Given the description of an element on the screen output the (x, y) to click on. 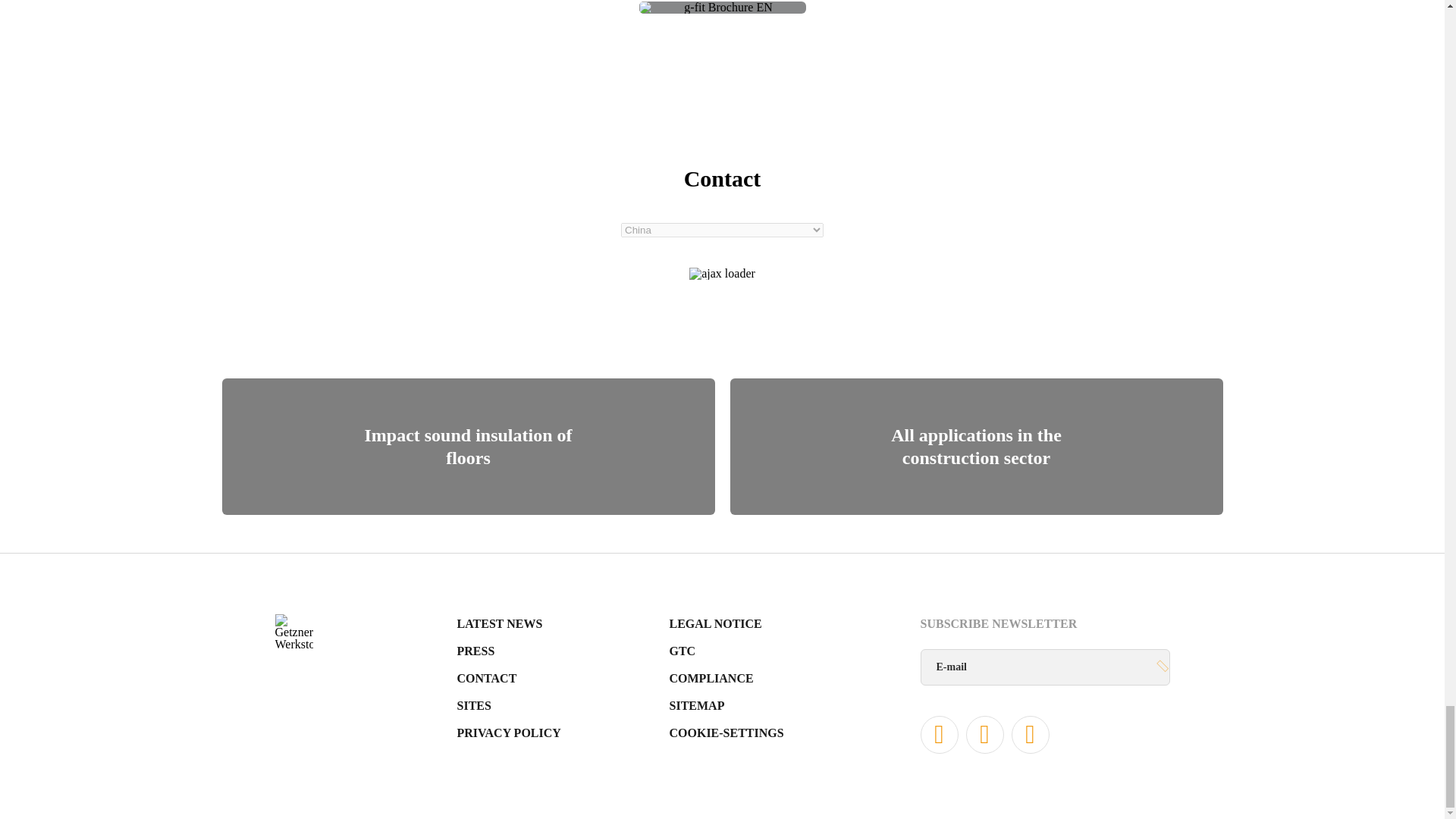
LATEST NEWS (499, 623)
Impact sound insulation of floors (467, 446)
COMPLIANCE (710, 677)
SITES (473, 705)
PRESS (476, 650)
PRIVACY POLICY (508, 732)
CONTACT (486, 677)
GTC (681, 650)
All applications in the construction sector (976, 446)
LEGAL NOTICE (714, 623)
